Given the description of an element on the screen output the (x, y) to click on. 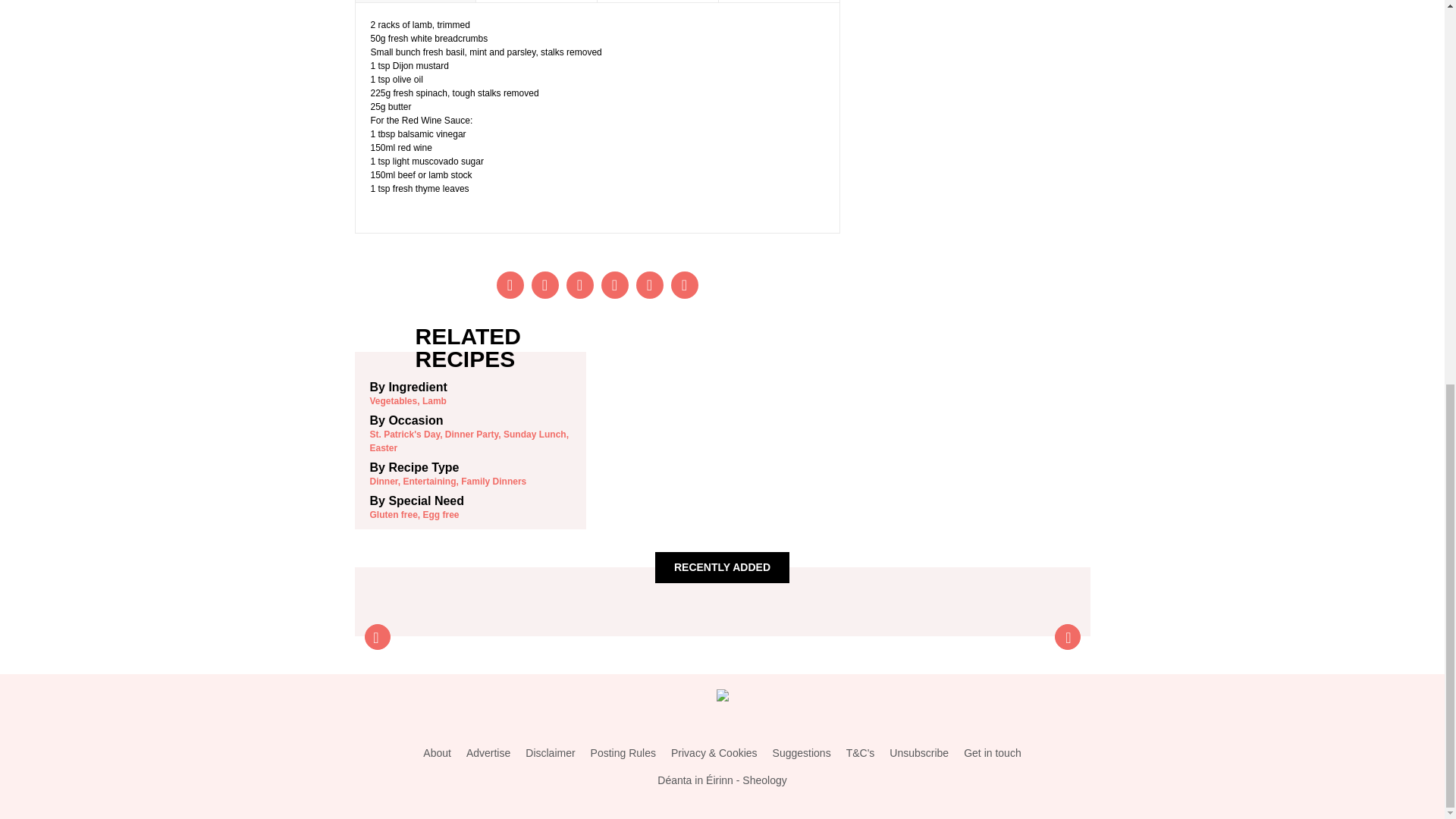
Get in touch (992, 753)
Email (648, 284)
Print (683, 284)
Posting Rules (623, 753)
Sheology (764, 779)
Advertise (488, 753)
About (436, 753)
Disclaimer (550, 753)
Unsubscribe (919, 753)
Suggestions (801, 753)
